Given the description of an element on the screen output the (x, y) to click on. 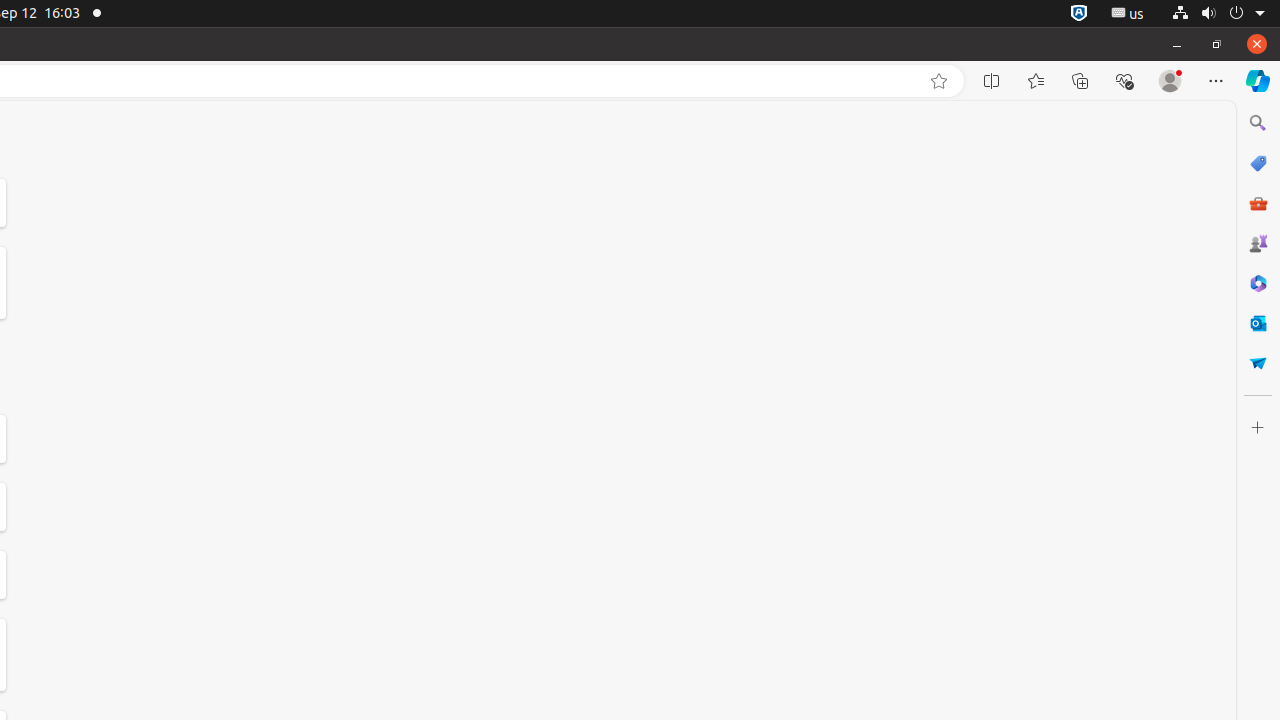
Drop Element type: push-button (1258, 363)
Microsoft 365 Element type: push-button (1258, 283)
Favorites Element type: push-button (1036, 81)
Outlook Element type: push-button (1258, 323)
Search Element type: push-button (1258, 123)
